Given the description of an element on the screen output the (x, y) to click on. 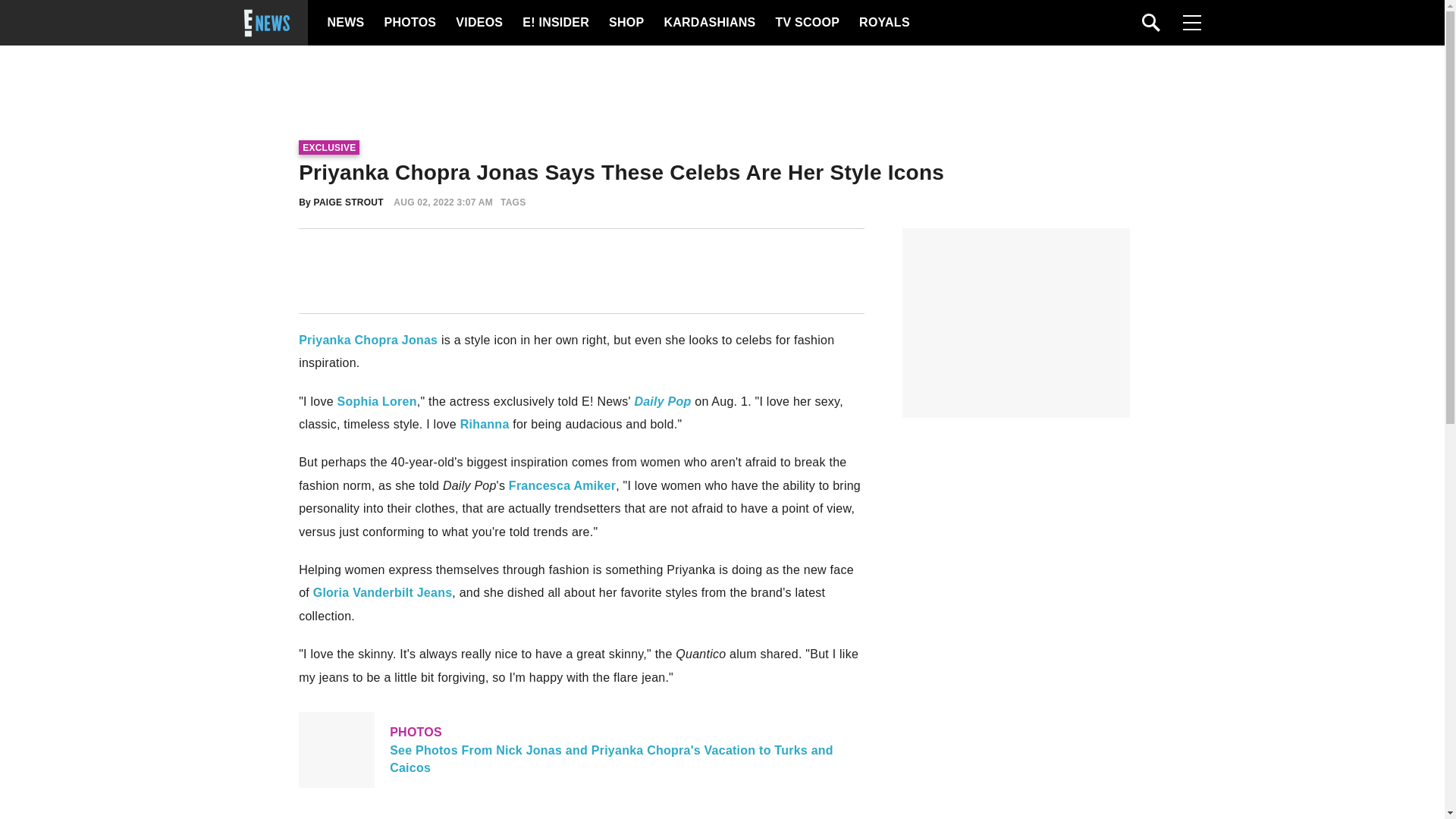
E! INSIDER (555, 22)
Priyanka Chopra Jonas (368, 339)
Gloria Vanderbilt Jeans (382, 592)
Francesca Amiker (561, 485)
VIDEOS (478, 22)
Rihanna (484, 423)
PAIGE STROUT (349, 202)
Daily Pop (661, 400)
TV SCOOP (806, 22)
